Given the description of an element on the screen output the (x, y) to click on. 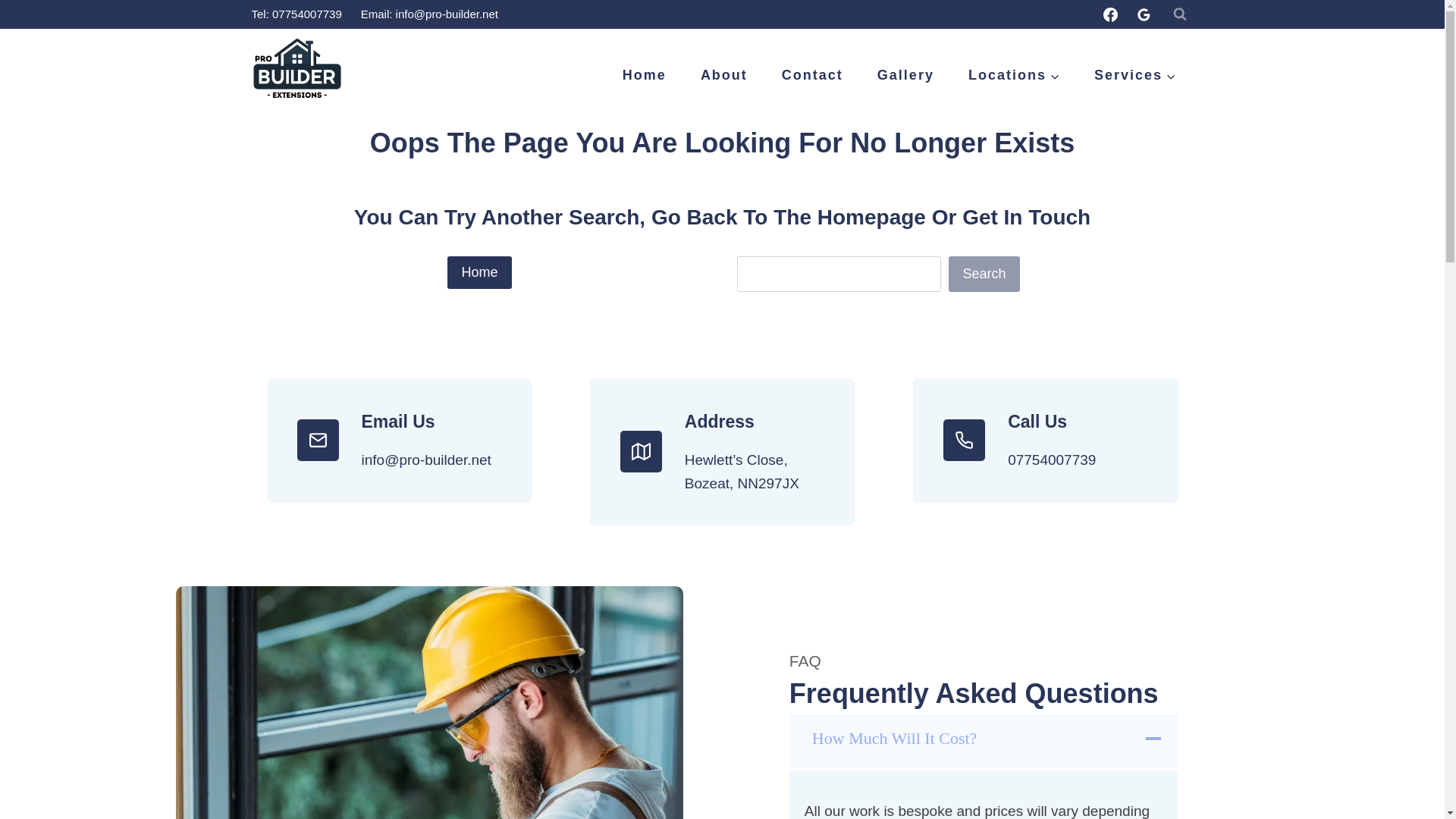
About (723, 76)
Contact (812, 76)
Locations (1013, 76)
Home (643, 76)
Gallery (905, 76)
